Given the description of an element on the screen output the (x, y) to click on. 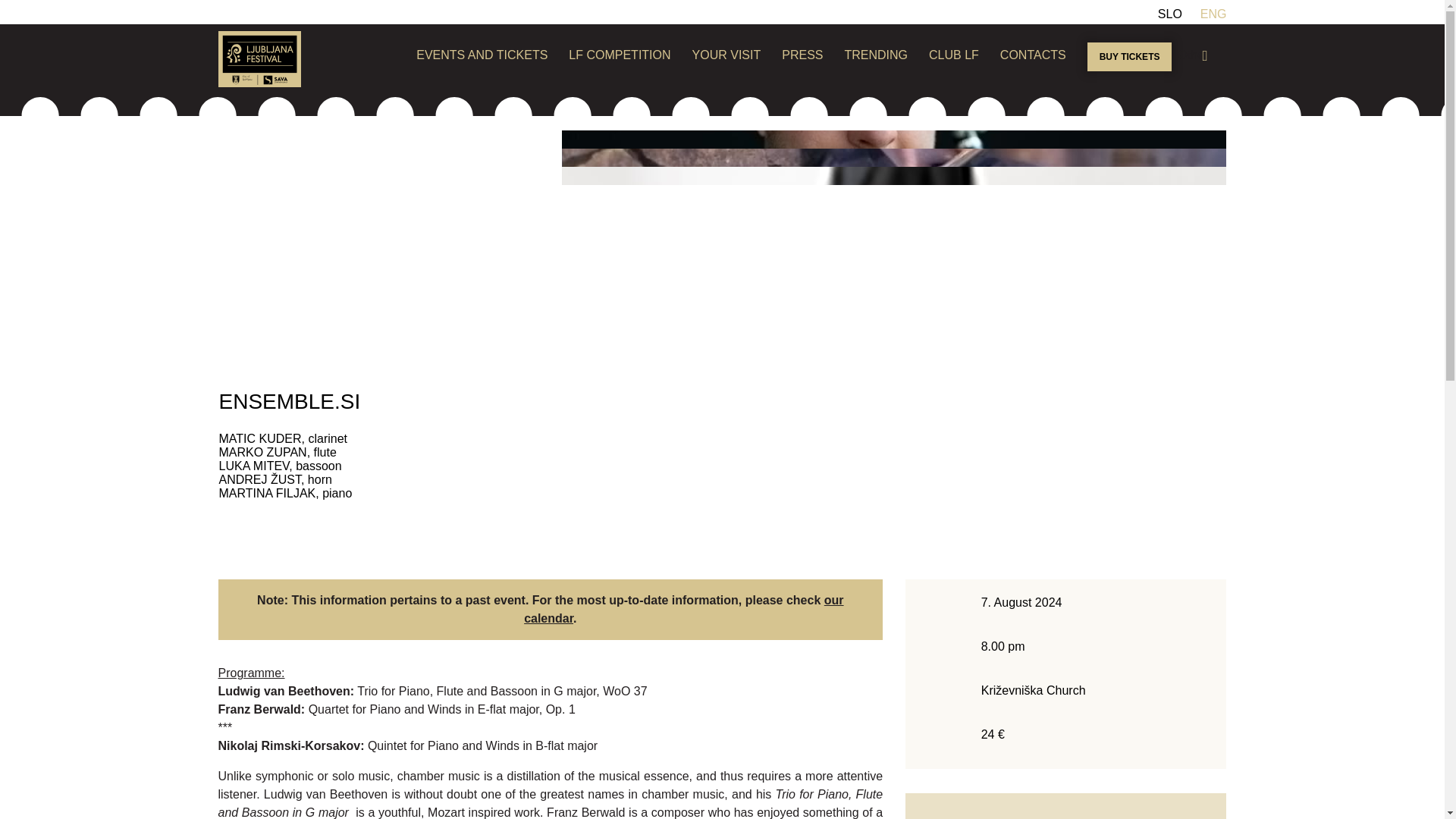
ENG (1213, 13)
CLUB LF (953, 54)
EVENTS AND TICKETS (481, 54)
Events and Tickets (481, 54)
TRENDING (876, 54)
SLO (1169, 13)
PRESS (801, 54)
YOUR VISIT (727, 54)
LF Competition (619, 54)
LF COMPETITION (619, 54)
